Given the description of an element on the screen output the (x, y) to click on. 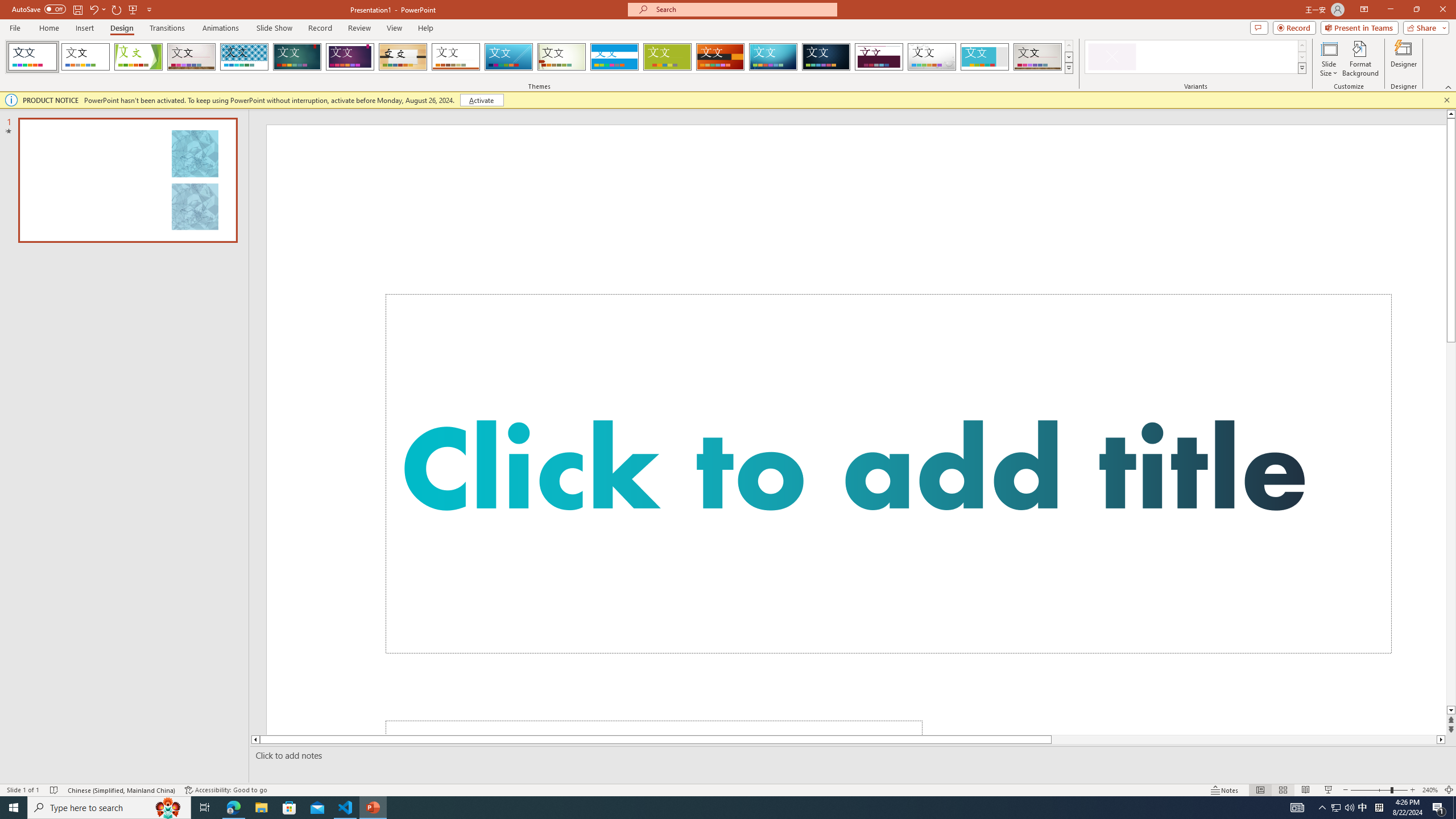
Row up (1301, 45)
Office Theme (85, 56)
Berlin (720, 56)
AutoSave (38, 9)
Ribbon Display Options (1364, 9)
Damask (826, 56)
Zoom 240% (1430, 790)
Slide Show (273, 28)
Slide Size (1328, 58)
Format Background (1360, 58)
Quick Access Toolbar (82, 9)
Restore Down (1416, 9)
Accessibility Checker Accessibility: Good to go (226, 790)
Share (1423, 27)
Organic (403, 56)
